Given the description of an element on the screen output the (x, y) to click on. 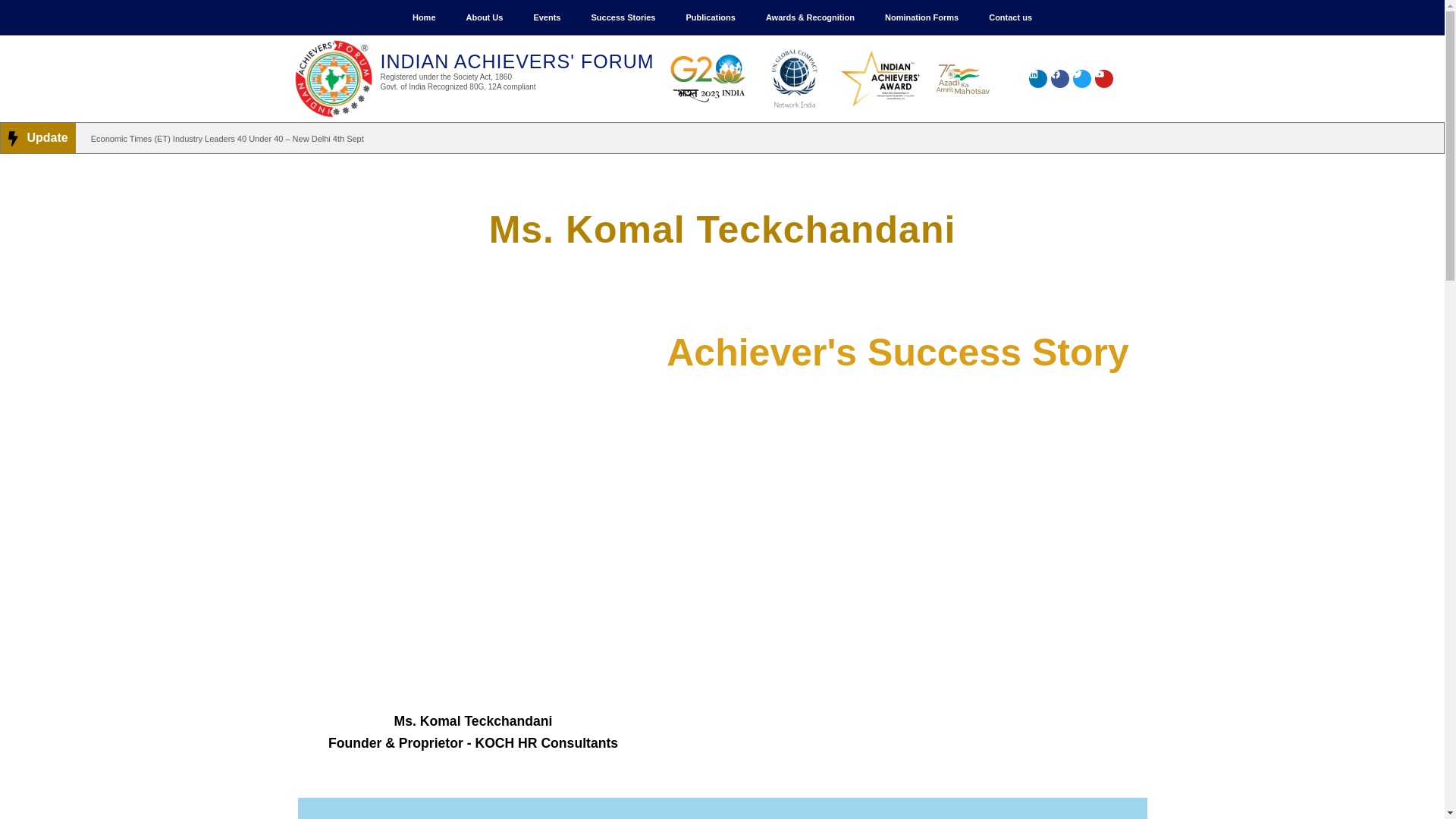
Events (546, 17)
Nomination Forms (921, 17)
Home (424, 17)
Publications (709, 17)
Contact us (1010, 17)
Success Stories (622, 17)
About Us (483, 17)
